Given the description of an element on the screen output the (x, y) to click on. 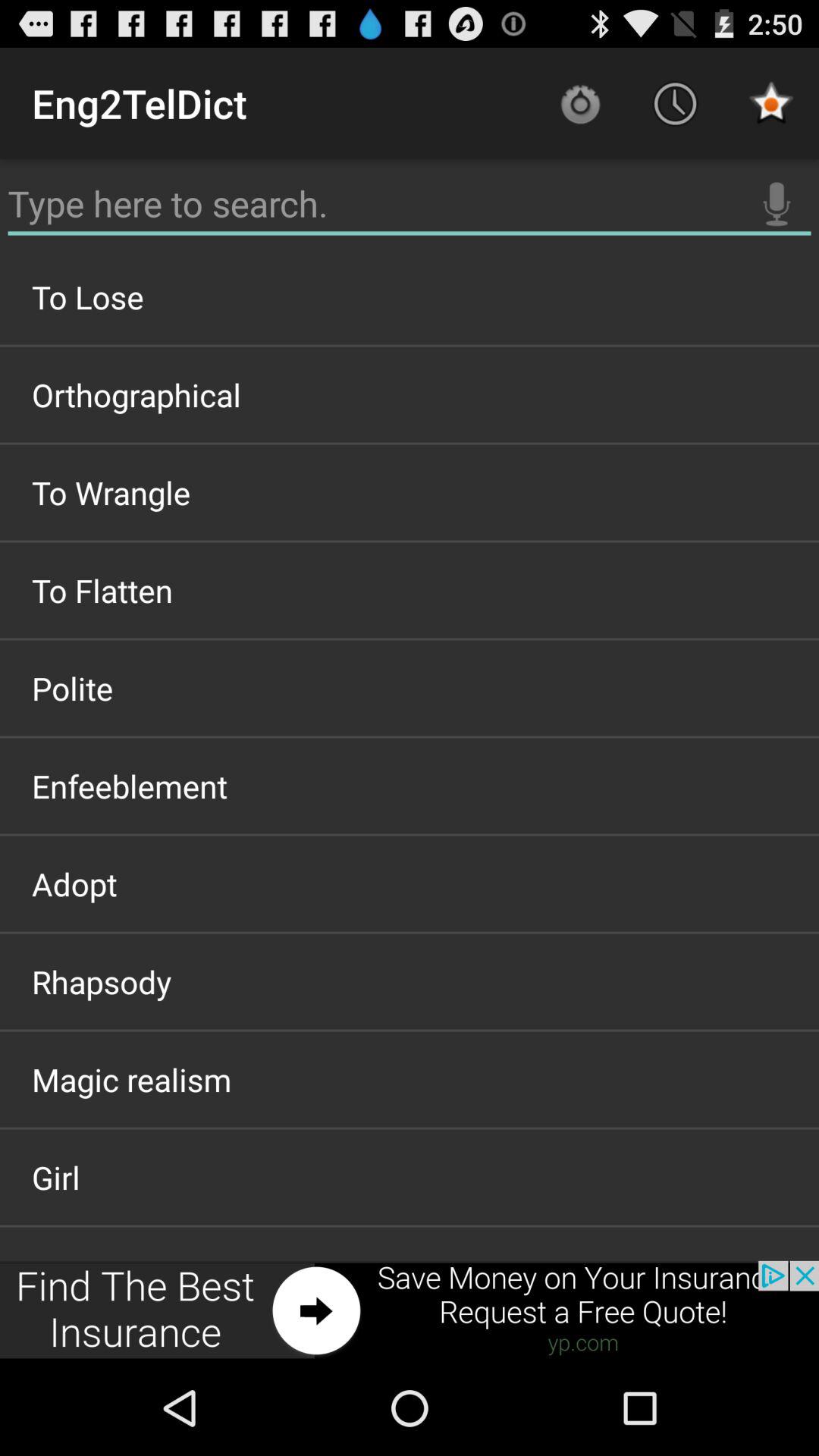
search for desired information (409, 204)
